Given the description of an element on the screen output the (x, y) to click on. 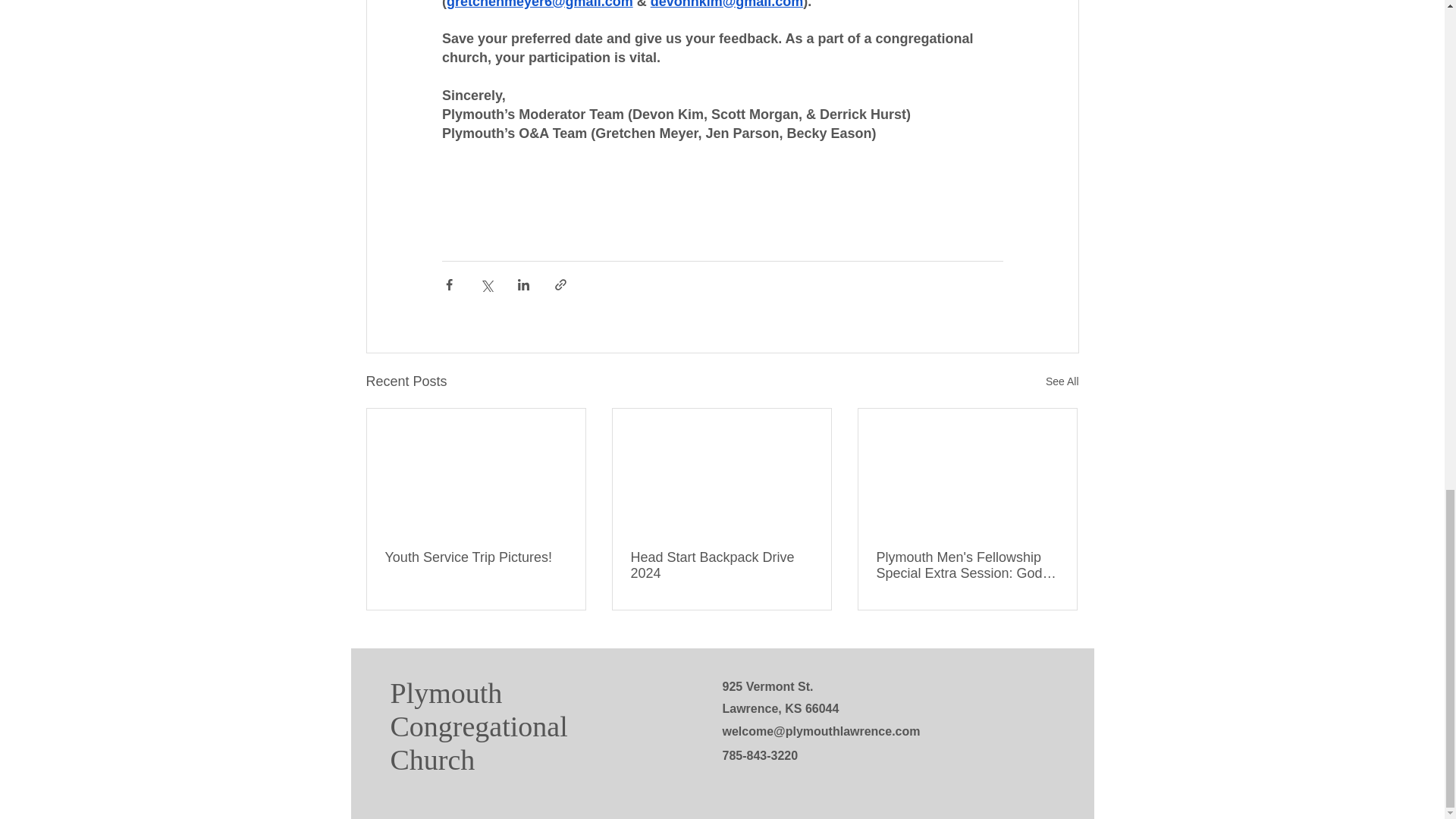
Head Start Backpack Drive 2024 (721, 565)
See All (1061, 382)
Youth Service Trip Pictures! (476, 557)
